Given the description of an element on the screen output the (x, y) to click on. 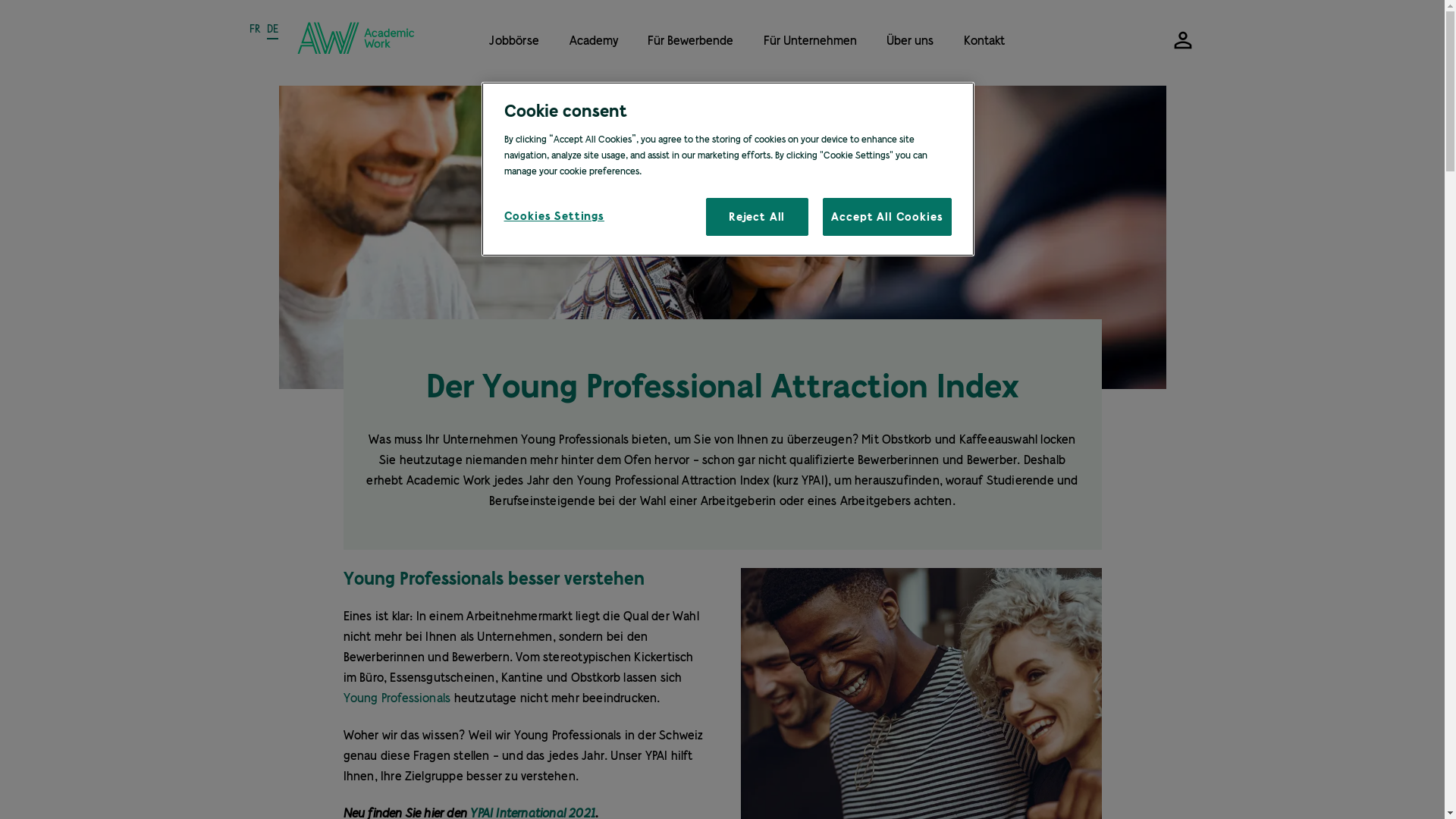
DE Element type: text (272, 30)
FR Element type: text (254, 29)
Kontakt Element type: text (983, 39)
Accept All Cookies Element type: text (886, 216)
Cookies Settings Element type: text (554, 215)
Reject All Element type: text (757, 216)
Young Professionals Element type: text (396, 697)
Academy Element type: text (593, 39)
